Given the description of an element on the screen output the (x, y) to click on. 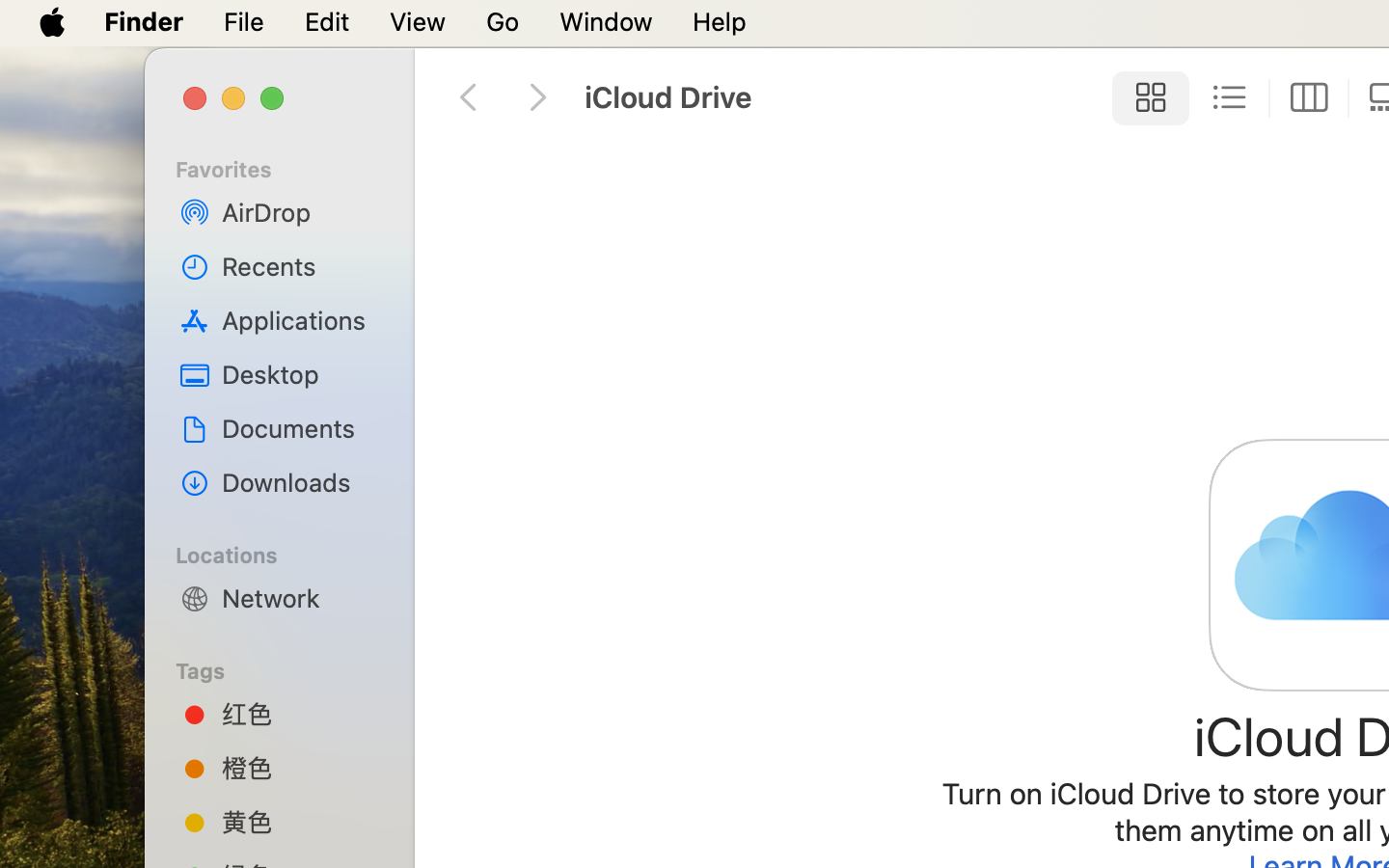
Favorites Element type: AXStaticText (289, 166)
Downloads Element type: AXStaticText (299, 481)
Applications Element type: AXStaticText (299, 319)
Network Element type: AXStaticText (299, 597)
红色 Element type: AXStaticText (299, 713)
